Given the description of an element on the screen output the (x, y) to click on. 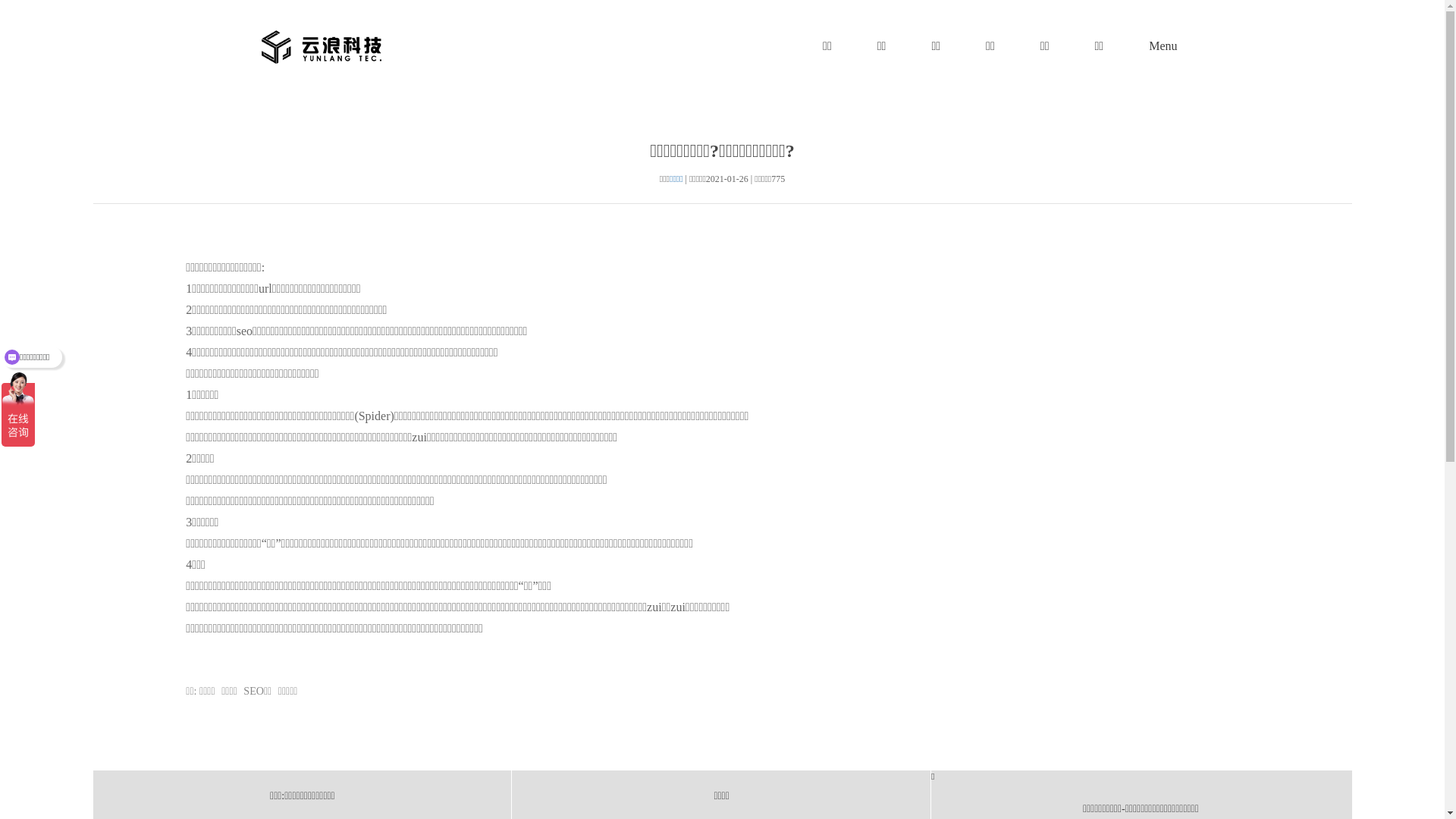
Menu Element type: text (1162, 46)
